Given the description of an element on the screen output the (x, y) to click on. 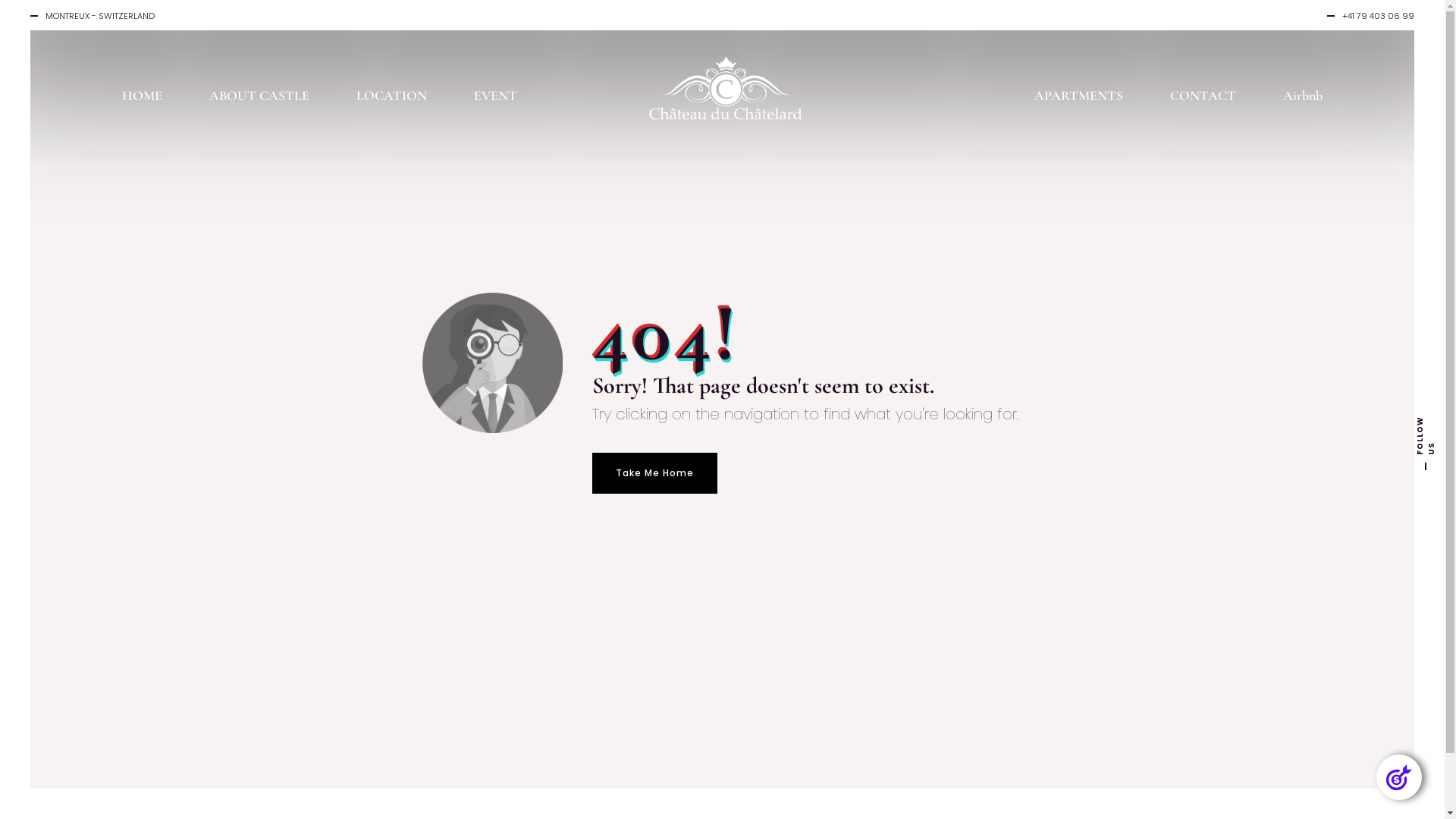
Take Me Home Element type: text (653, 472)
Airbnb Element type: text (1302, 93)
ABOUT CASTLE Element type: text (258, 93)
APARTMENTS Element type: text (1078, 93)
EVENT Element type: text (495, 93)
HOME Element type: text (141, 93)
CONTACT Element type: text (1202, 93)
LOCATION Element type: text (391, 93)
